Given the description of an element on the screen output the (x, y) to click on. 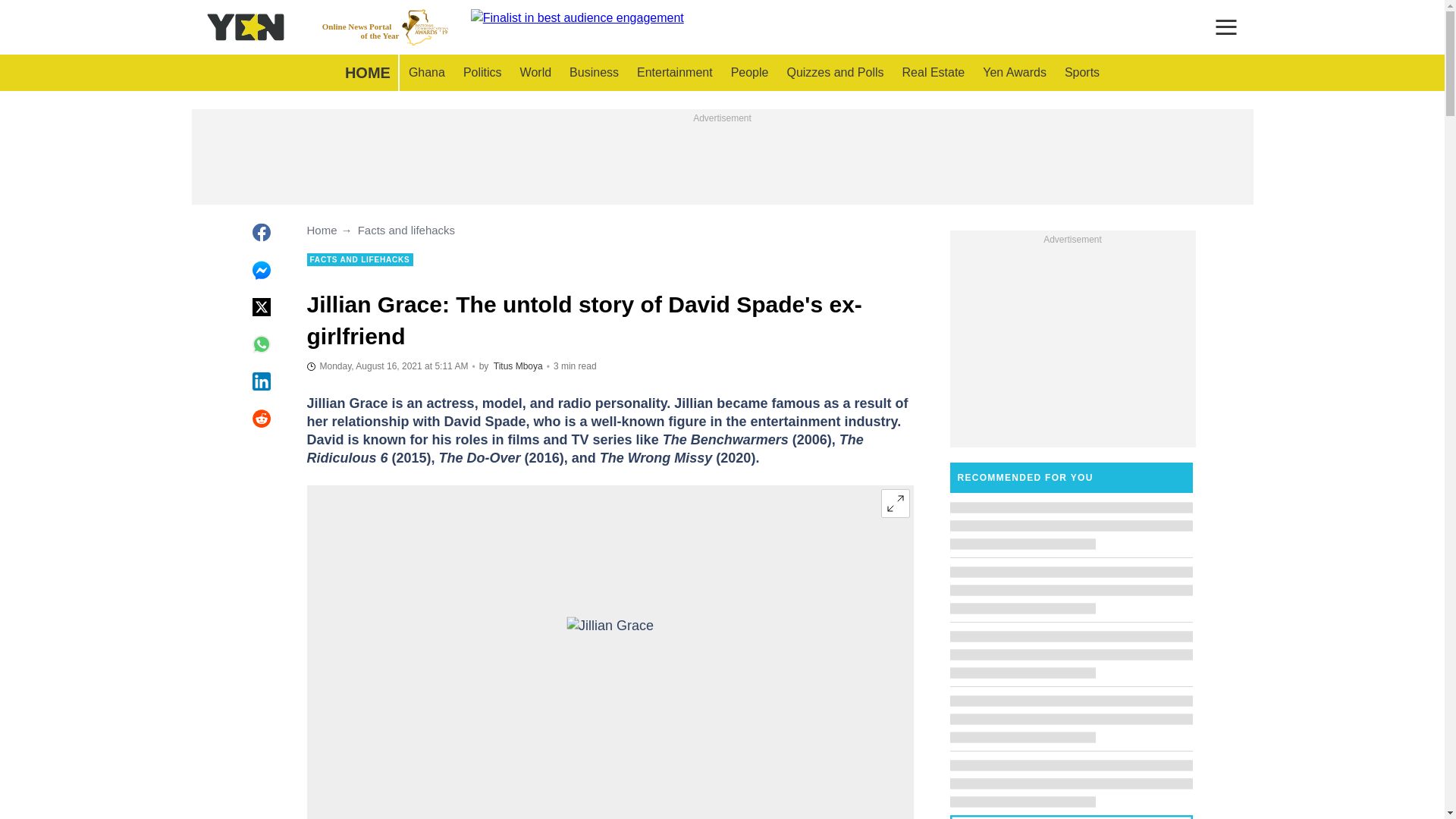
Quizzes and Polls (384, 27)
World (834, 72)
HOME (535, 72)
Politics (367, 72)
2021-08-16T05:11:54Z (482, 72)
Sports (386, 366)
Jillian Grace (1081, 72)
Author page (609, 655)
Yen Awards (518, 366)
